Given the description of an element on the screen output the (x, y) to click on. 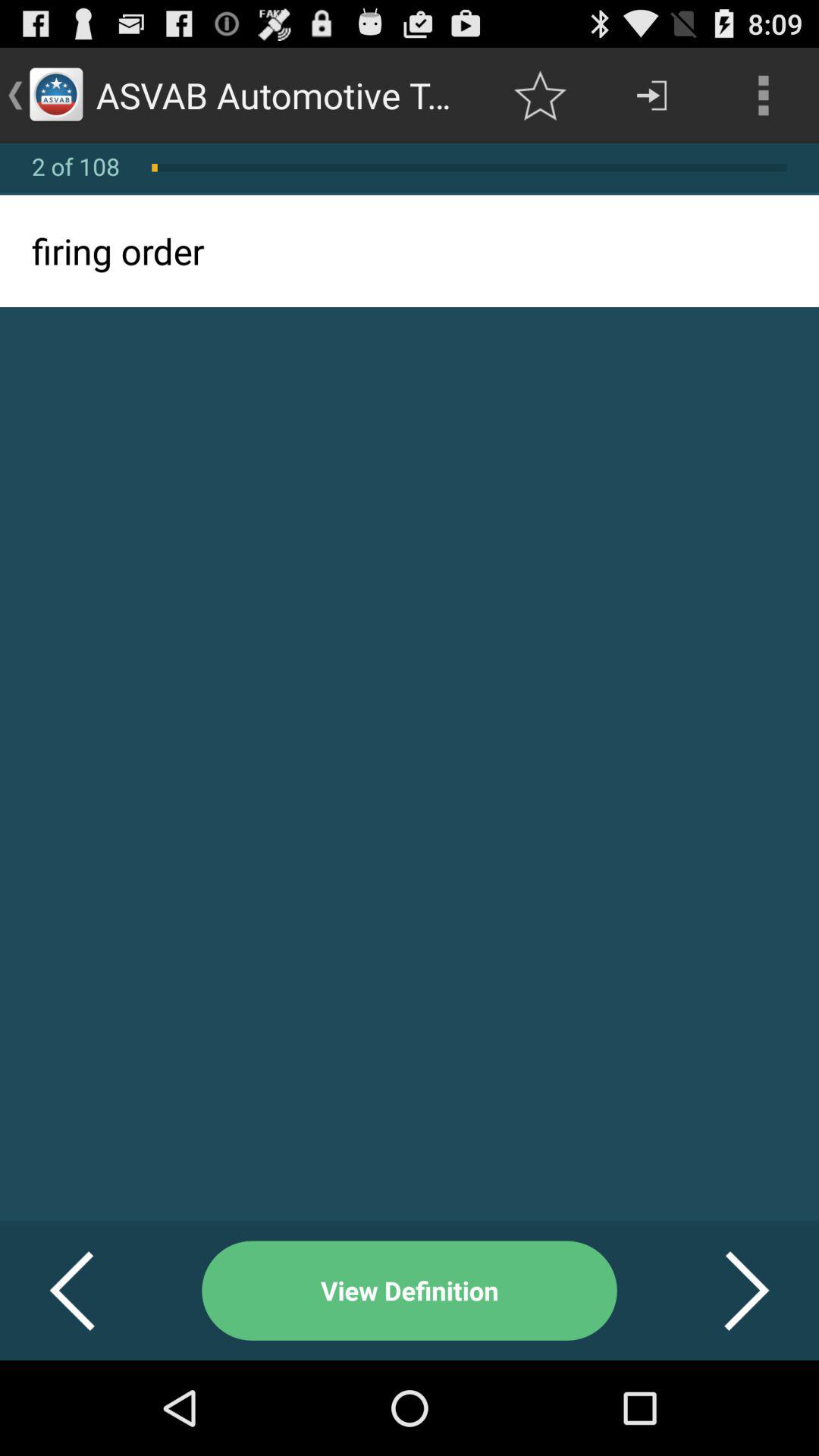
tap the icon next to the view definition icon (728, 1290)
